Given the description of an element on the screen output the (x, y) to click on. 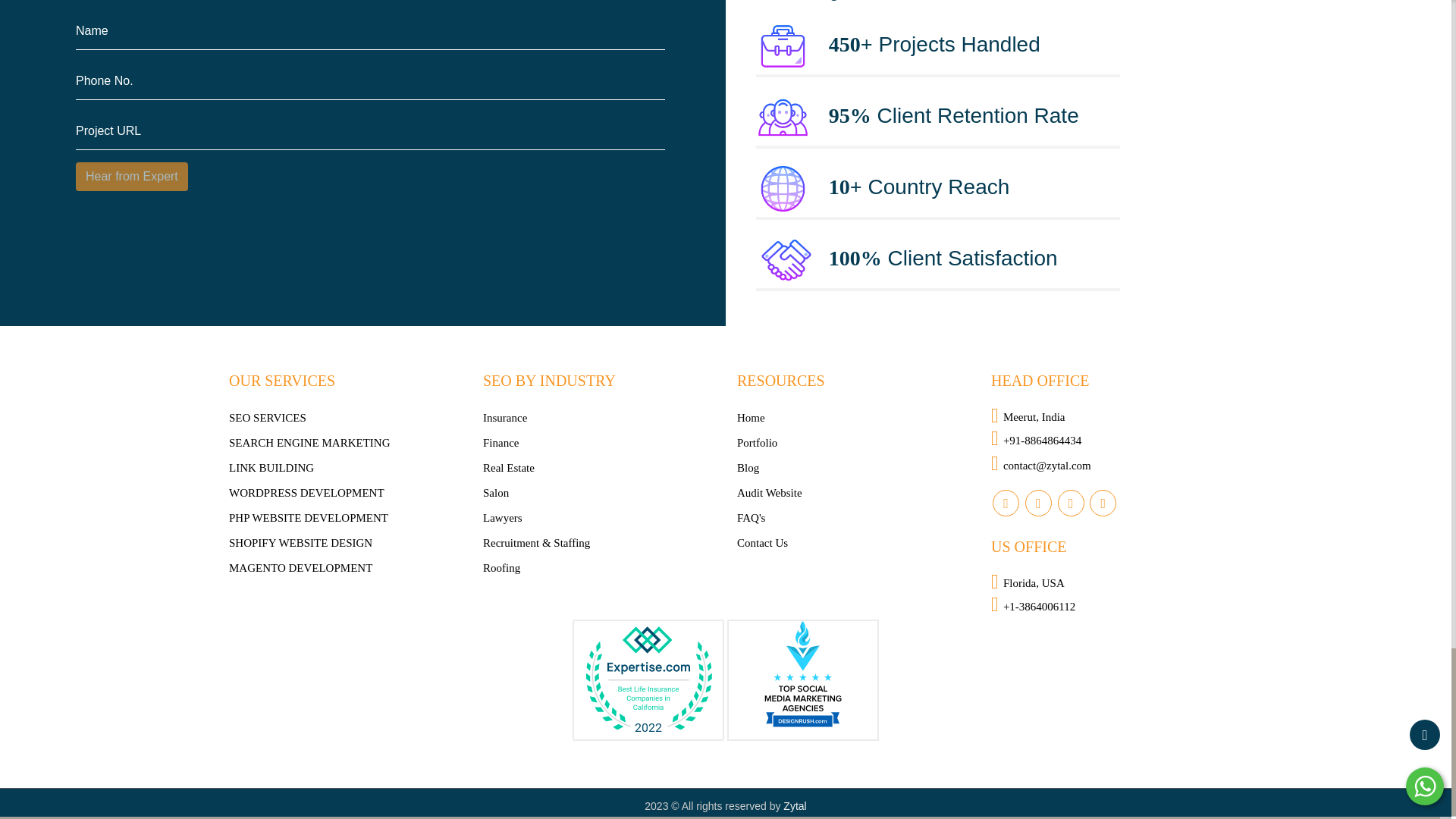
Facebook (1005, 502)
LinkedIn (1070, 502)
Hear from Expert (131, 176)
Instagram (1038, 502)
Twitter (1102, 502)
